Given the description of an element on the screen output the (x, y) to click on. 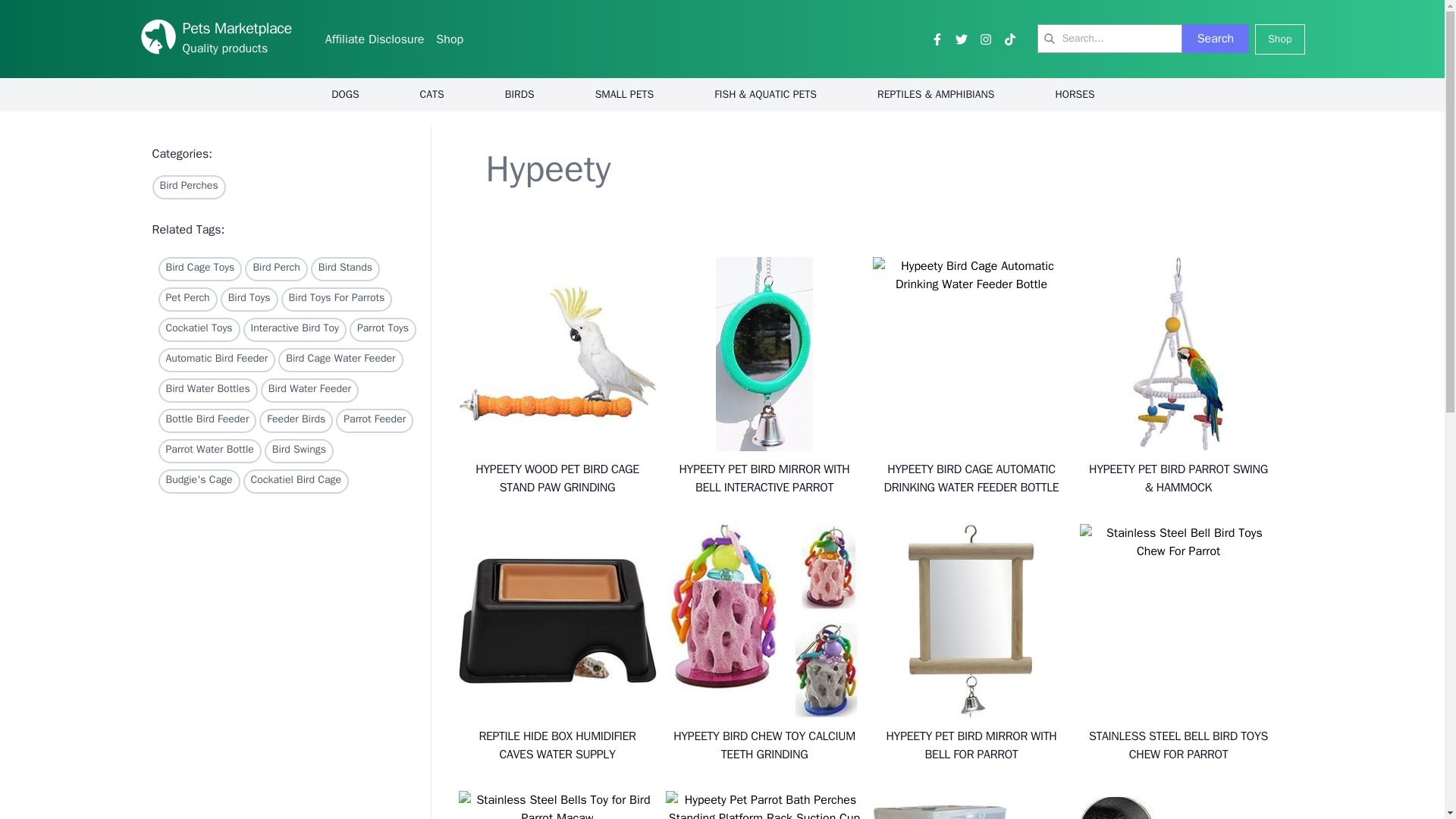
BIRDS (519, 93)
Parrot Toys (382, 329)
Search (1215, 38)
Bird Water Bottles (207, 390)
Automatic Bird Feeder (216, 360)
Bottle Bird Feeder (206, 420)
Bird Perches (188, 187)
Feeder Birds (296, 420)
Cockatiel Toys (198, 329)
Search (1215, 38)
